Given the description of an element on the screen output the (x, y) to click on. 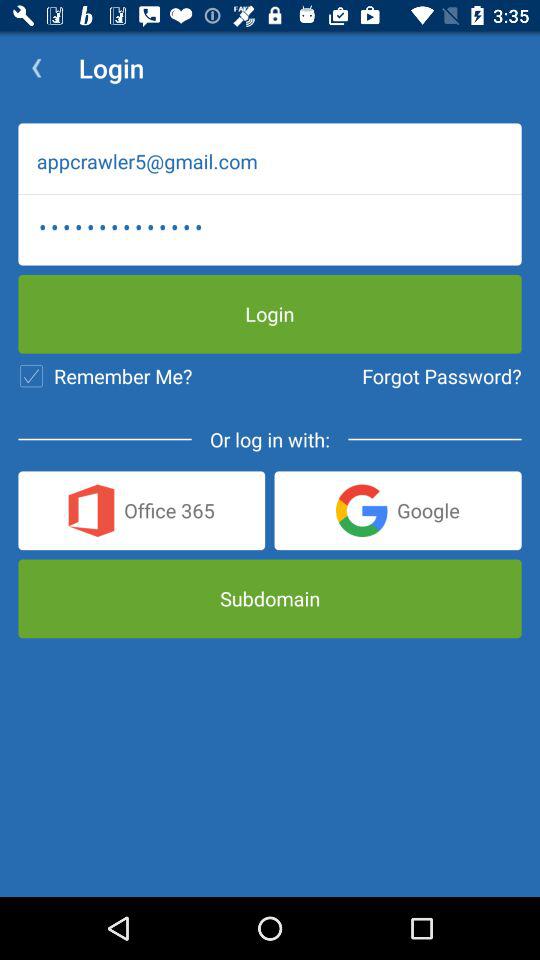
click the item below appcrawler3116 icon (441, 376)
